Given the description of an element on the screen output the (x, y) to click on. 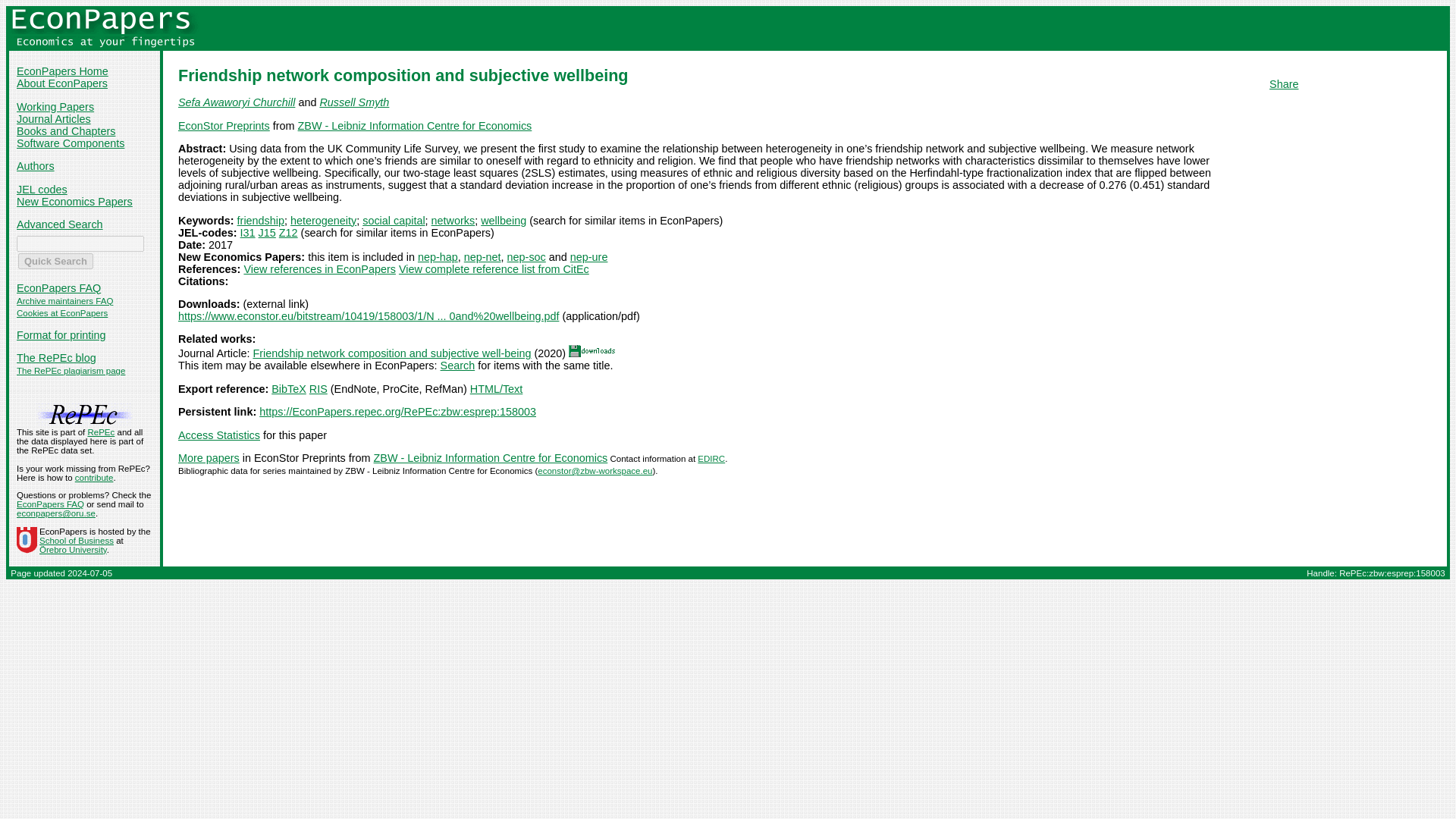
The RePEc blog (56, 357)
J15 (267, 232)
heterogeneity (322, 220)
Z12 (288, 232)
Books and Chapters (65, 131)
The RePEc plagiarism page (70, 370)
Cookies at EconPapers (61, 312)
Authors (35, 165)
EconPapers FAQ (58, 287)
About EconPapers (61, 82)
Advanced Search (59, 224)
Sefa Awaworyi Churchill (236, 102)
nep-ure (589, 256)
New Economics Papers (74, 201)
Search (458, 365)
